Given the description of an element on the screen output the (x, y) to click on. 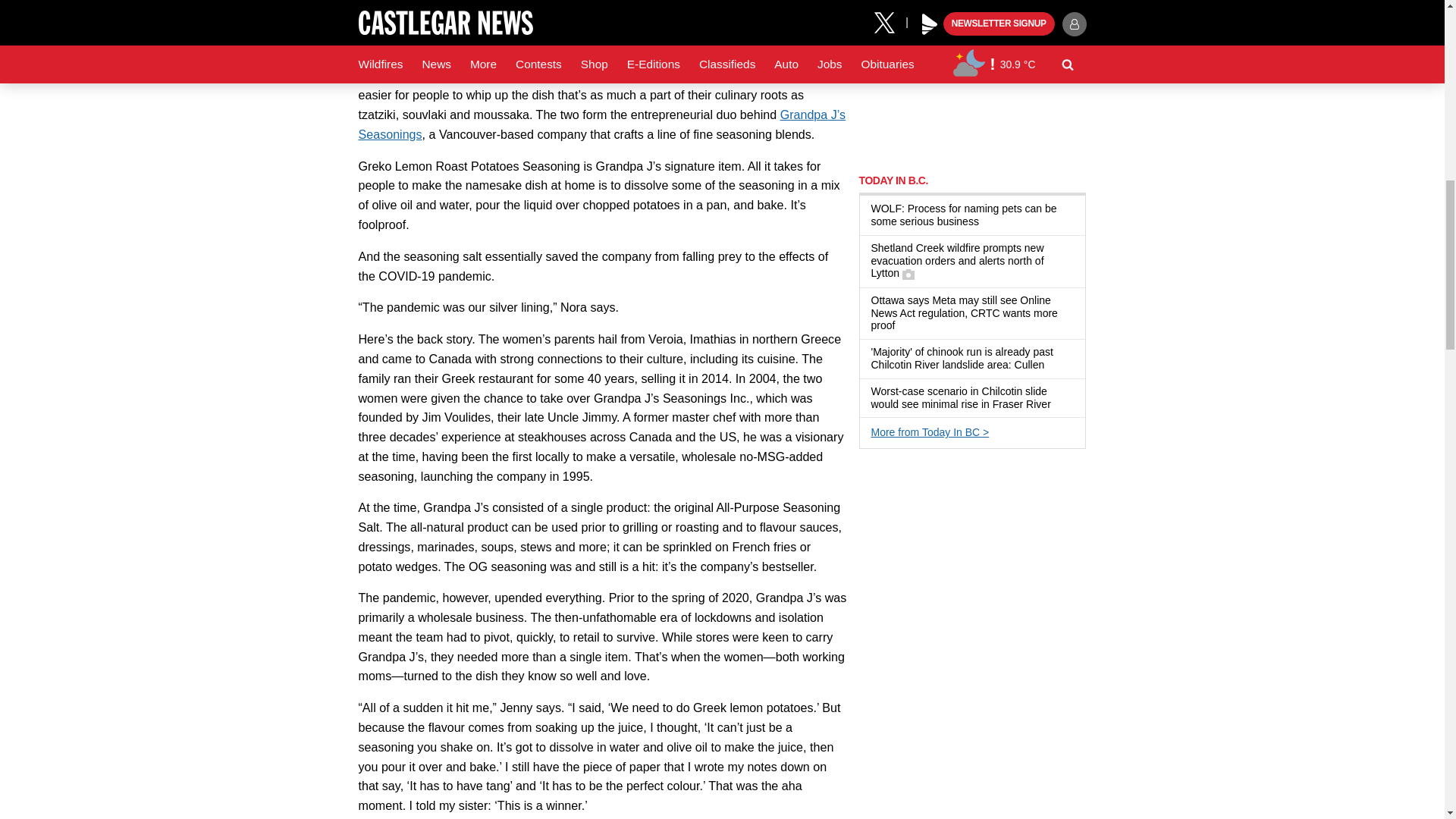
Has a gallery (908, 274)
